Given the description of an element on the screen output the (x, y) to click on. 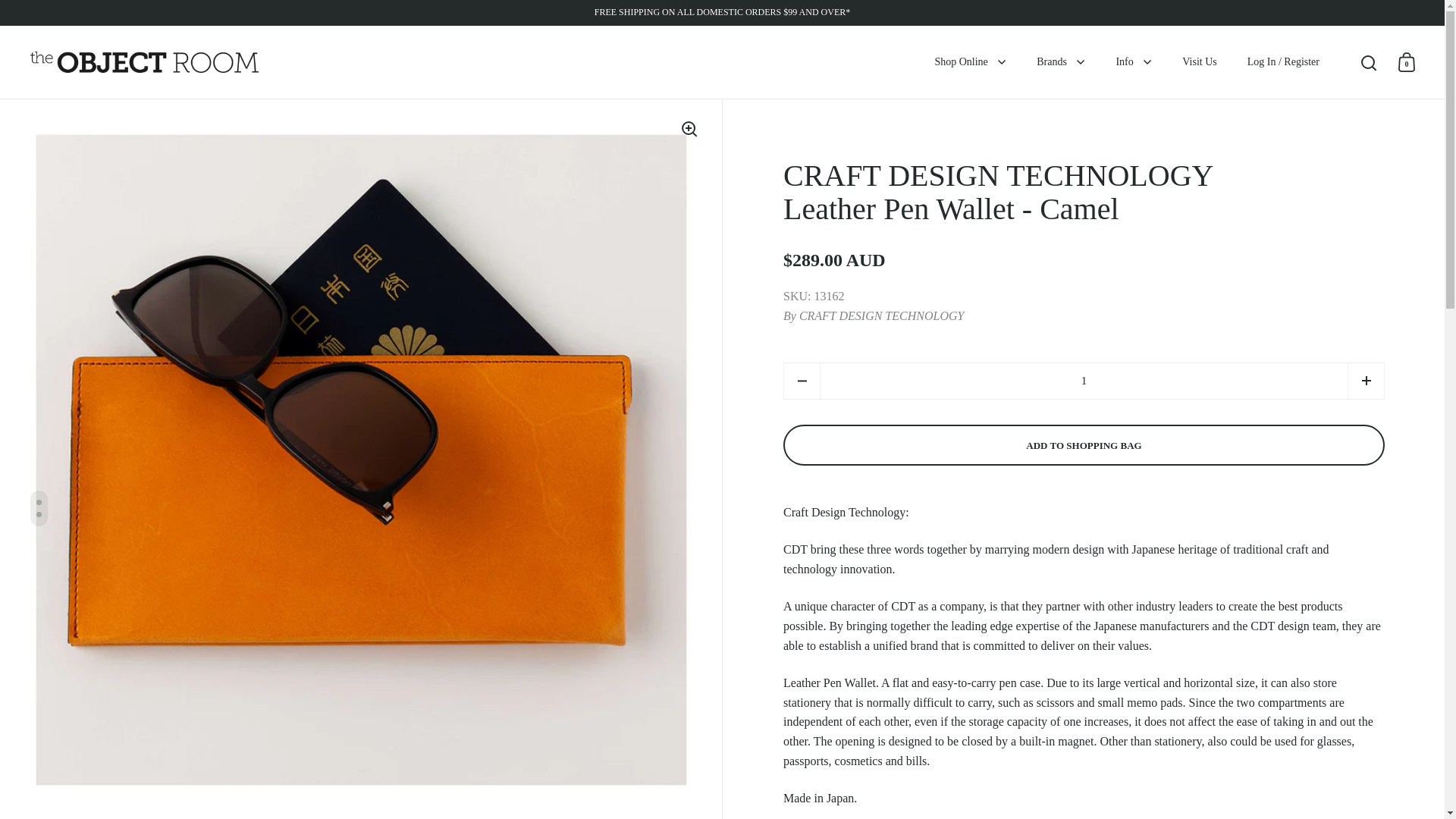
Brands (1061, 61)
ADD TO SHOPPING BAG (1083, 445)
1 (1084, 380)
Shop Online (970, 61)
